Given the description of an element on the screen output the (x, y) to click on. 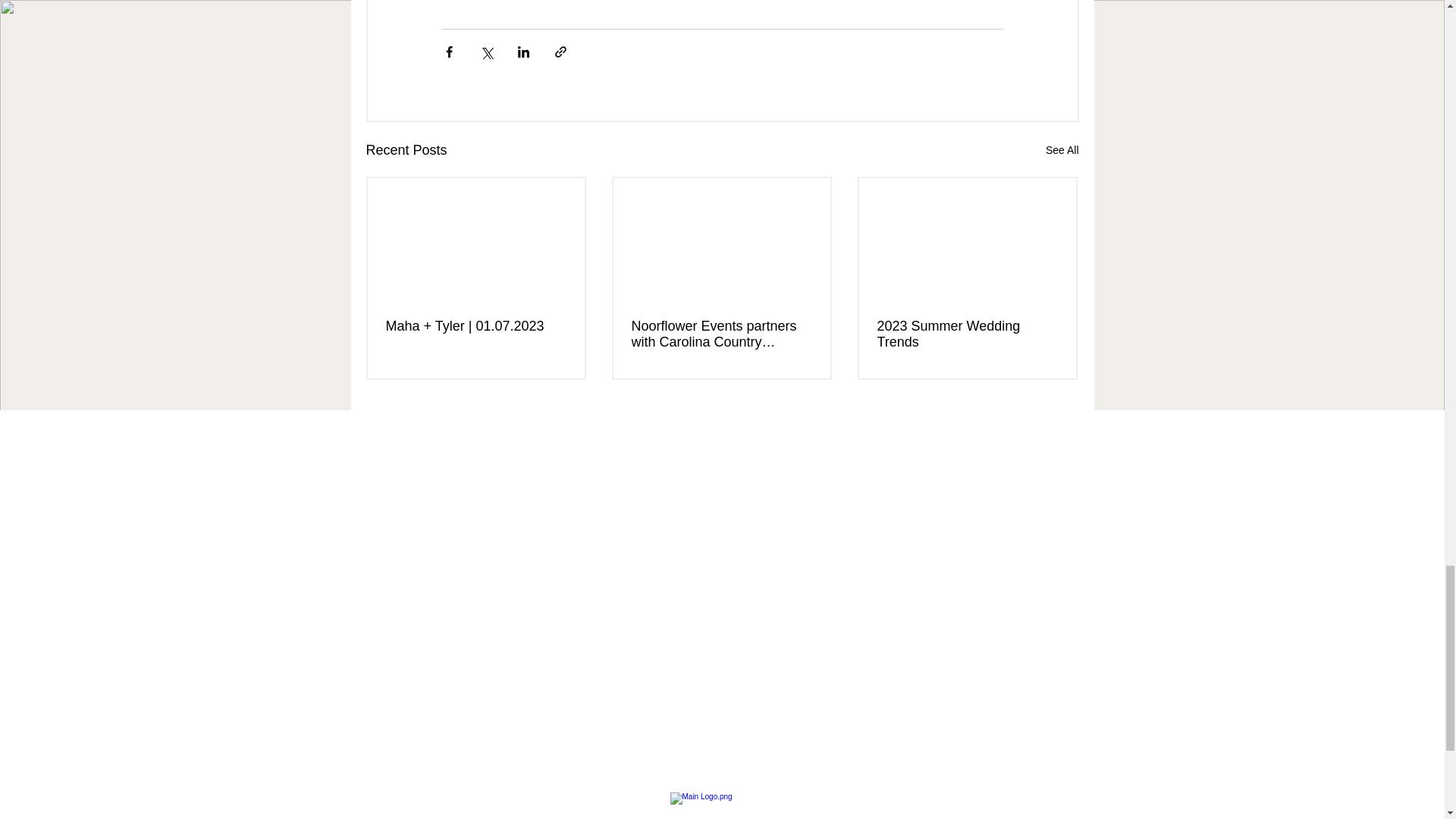
2023 Summer Wedding Trends (966, 334)
See All (1061, 150)
